Given the description of an element on the screen output the (x, y) to click on. 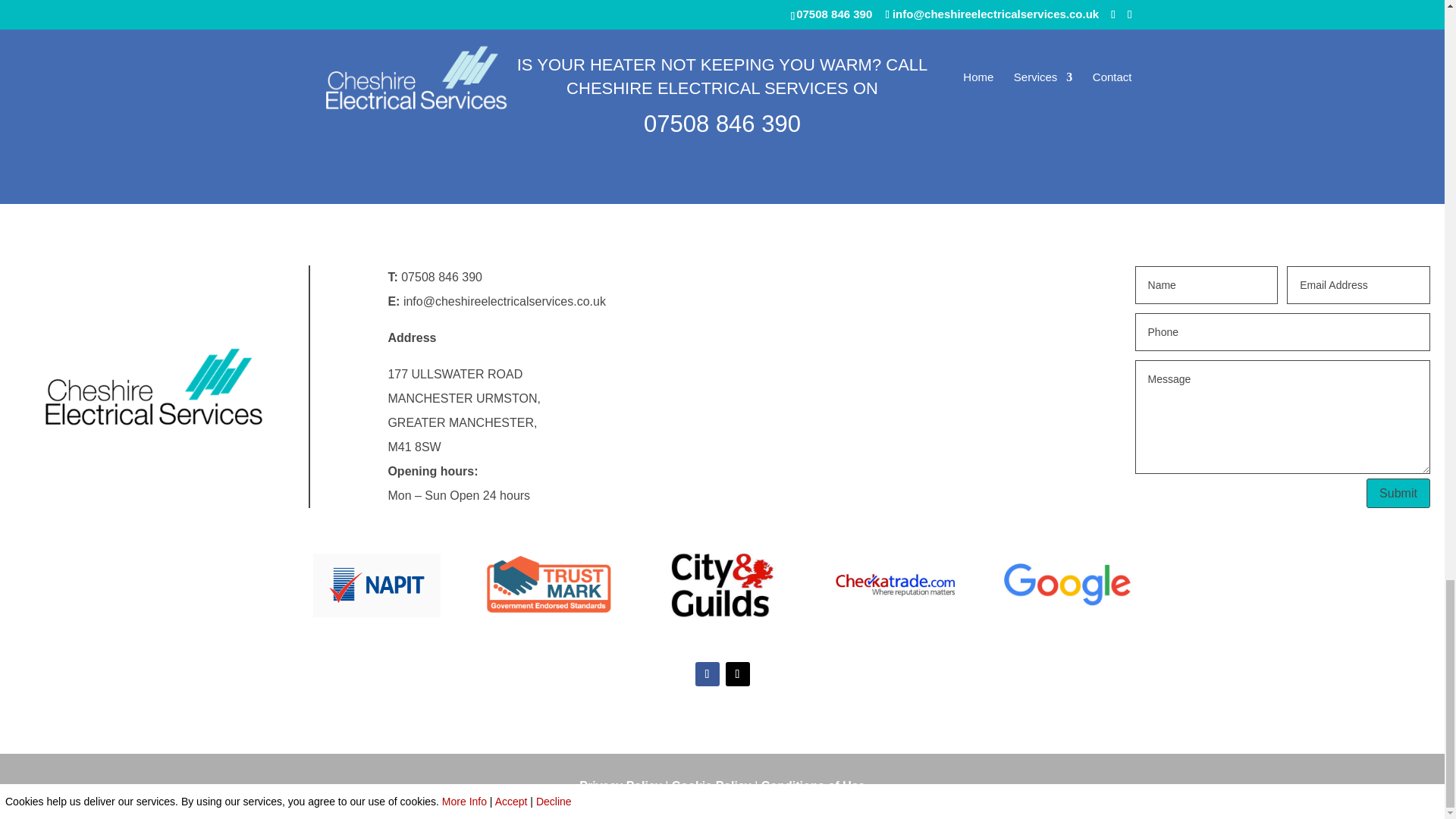
Cookie Policy (711, 785)
Submit (1398, 492)
napit-certified-630x315 (376, 584)
Privacy Policy (620, 785)
Follow on Facebook (706, 673)
Follow on X (737, 673)
07508 846 390 (721, 123)
logo-500w (153, 386)
07508 846 390 (441, 277)
